Given the description of an element on the screen output the (x, y) to click on. 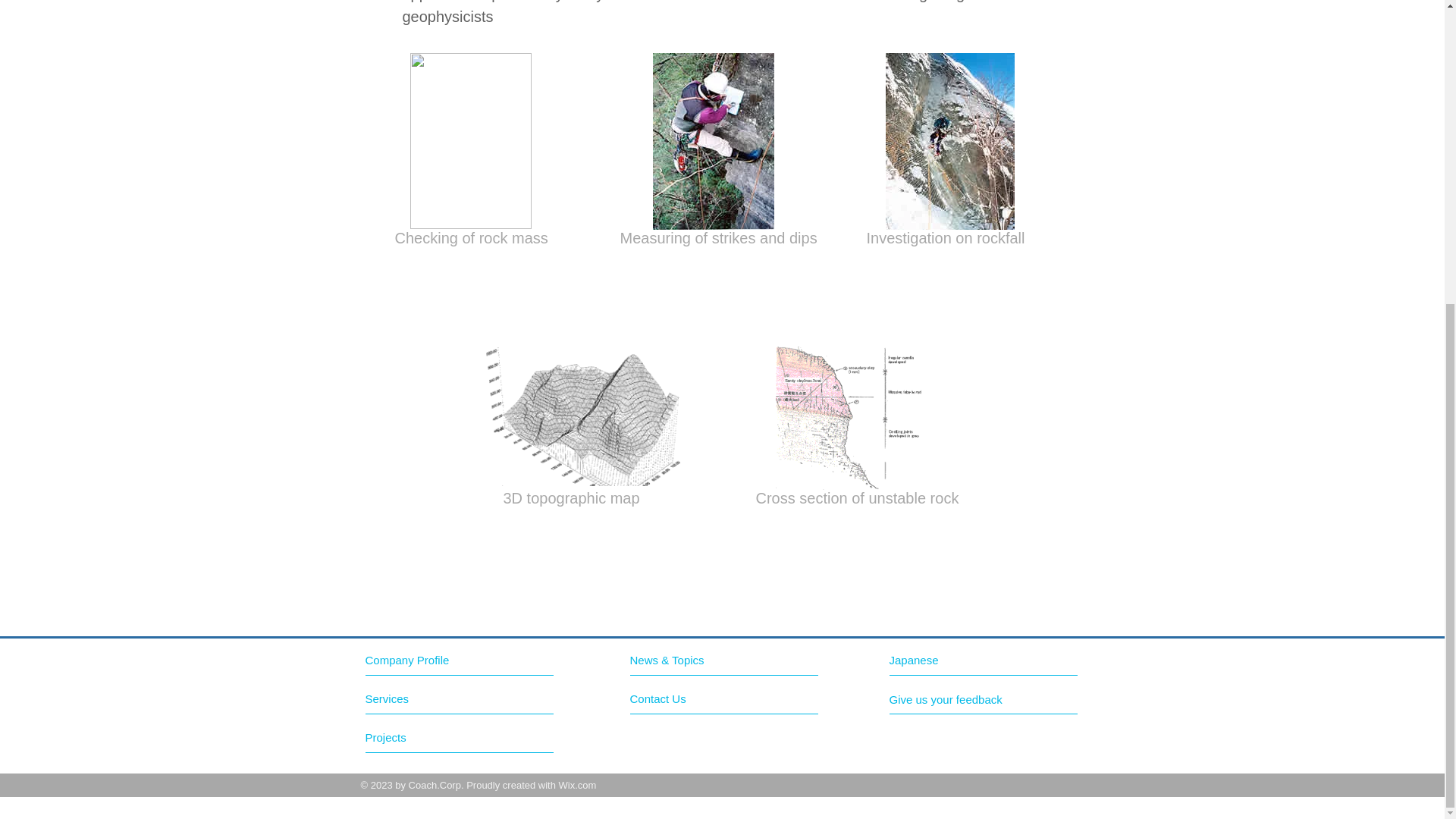
Contact Us (686, 698)
Projects (422, 737)
Wix.com (577, 785)
Give us your feedback (951, 699)
Company Profile (430, 659)
Services (422, 698)
Japanese (956, 659)
